Given the description of an element on the screen output the (x, y) to click on. 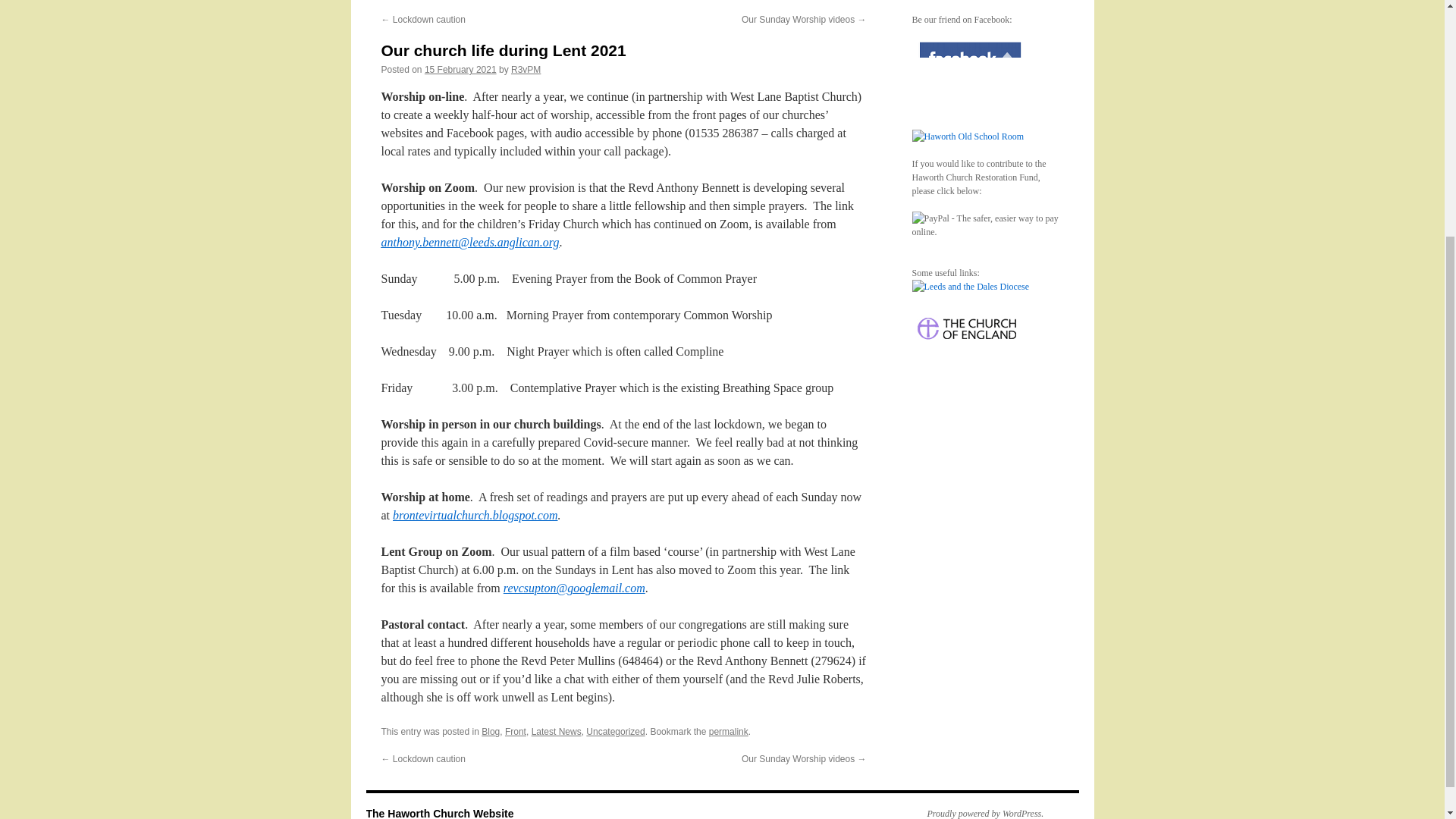
Haworth Old School Room (967, 136)
Join us on our Facebook page (968, 69)
brontevirtualchurch.blogspot.com (475, 514)
R3vPM (525, 69)
15 February 2021 (460, 69)
Permalink to Our church life during Lent 2021 (728, 731)
Front (515, 731)
11:39 am (460, 69)
Uncategorized (615, 731)
Leeds and the Dales Diocese (970, 286)
